Given the description of an element on the screen output the (x, y) to click on. 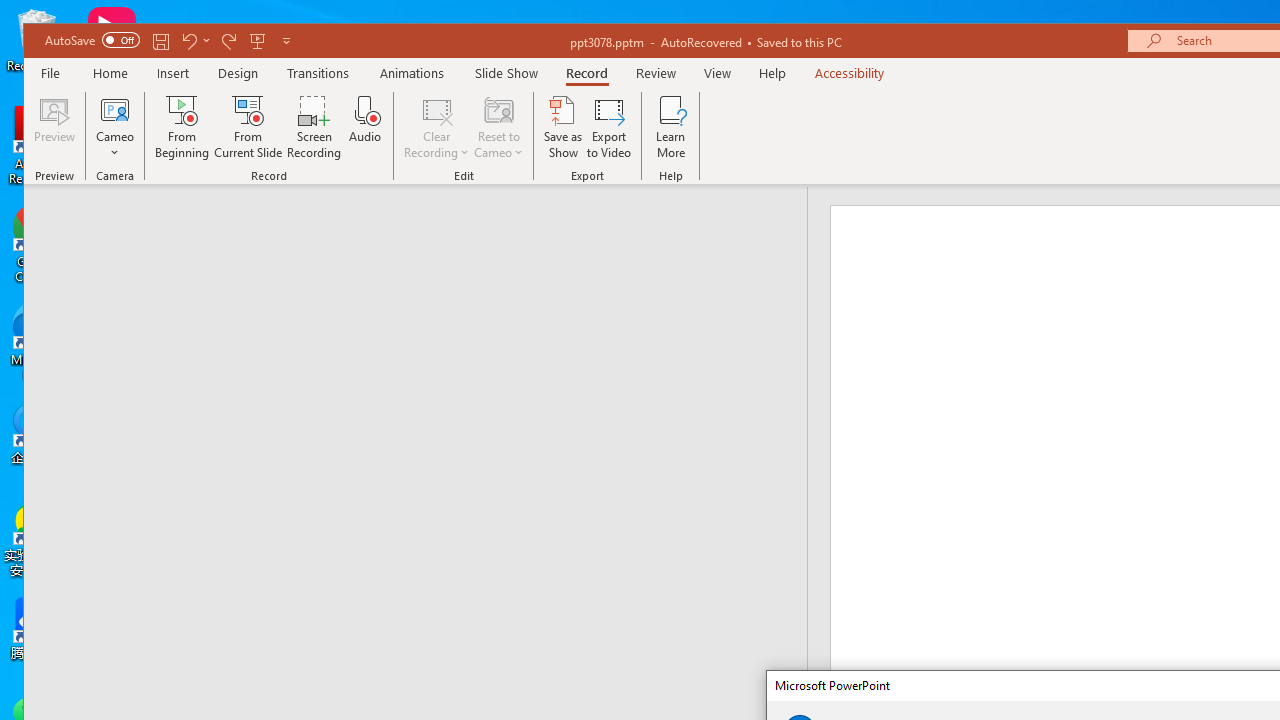
Outline (424, 226)
From Beginning... (182, 127)
Reset to Cameo (499, 127)
Clear Recording (436, 127)
From Current Slide... (248, 127)
